Given the description of an element on the screen output the (x, y) to click on. 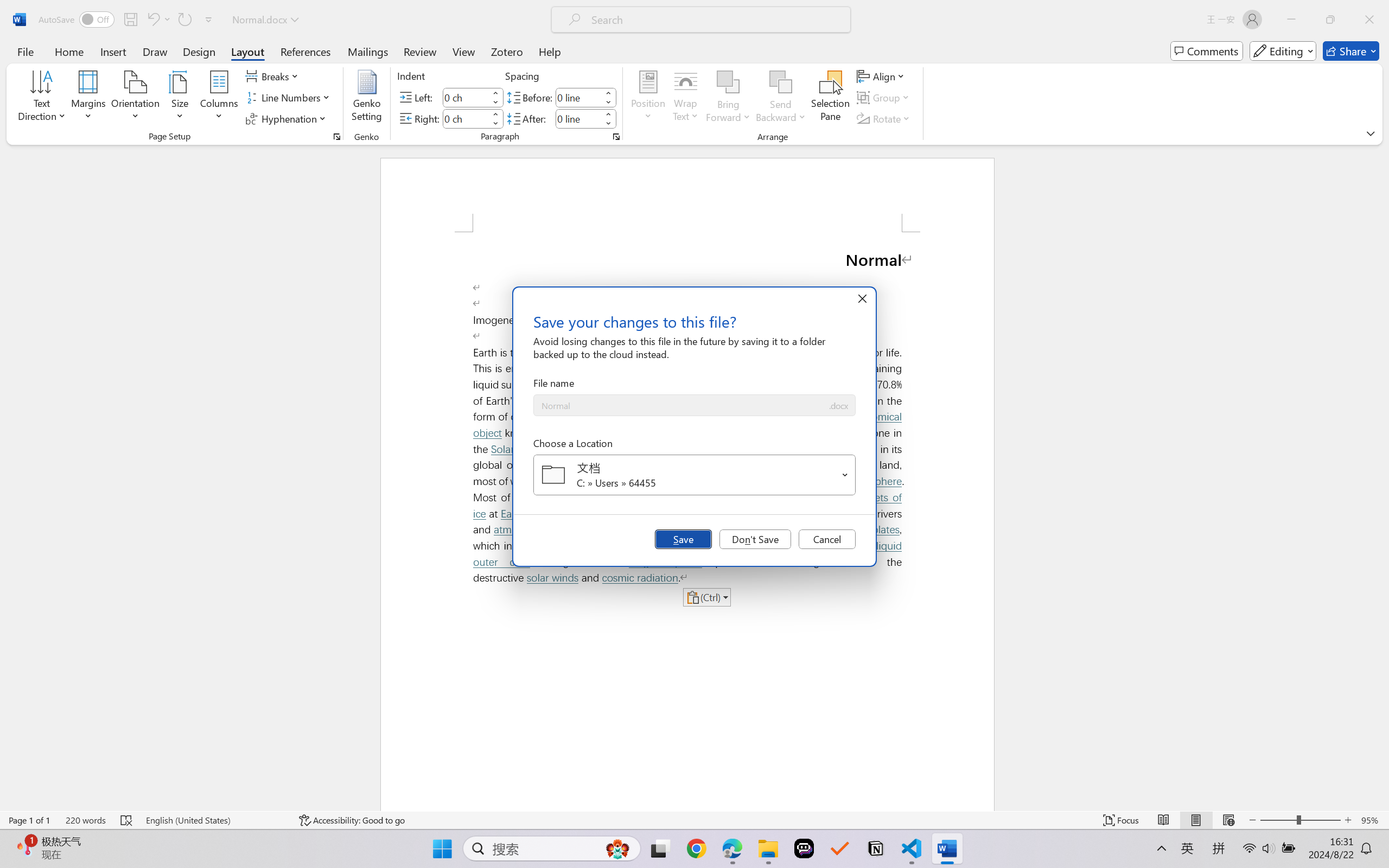
Send Backward (781, 81)
Bring Forward (728, 97)
Send Backward (781, 97)
Rotate (884, 118)
Zoom 95% (1372, 819)
